Given the description of an element on the screen output the (x, y) to click on. 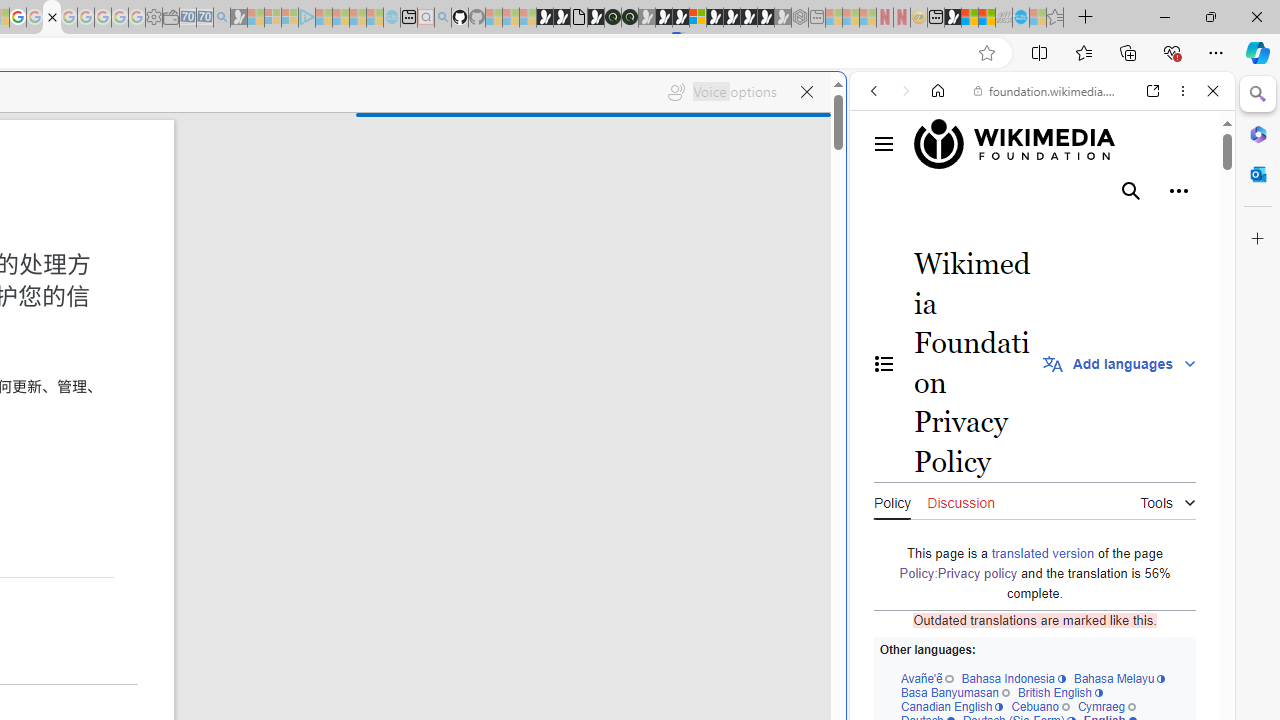
New tab - Sleeping (817, 17)
Policy (892, 500)
Tools (1167, 498)
Play Cave FRVR in your browser | Games from Microsoft Start (663, 17)
Search Filter, IMAGES (939, 228)
Tabs you've opened (276, 265)
Toggle the table of contents (883, 363)
Close Customize pane (1258, 239)
Navy Quest (1003, 17)
